Given the description of an element on the screen output the (x, y) to click on. 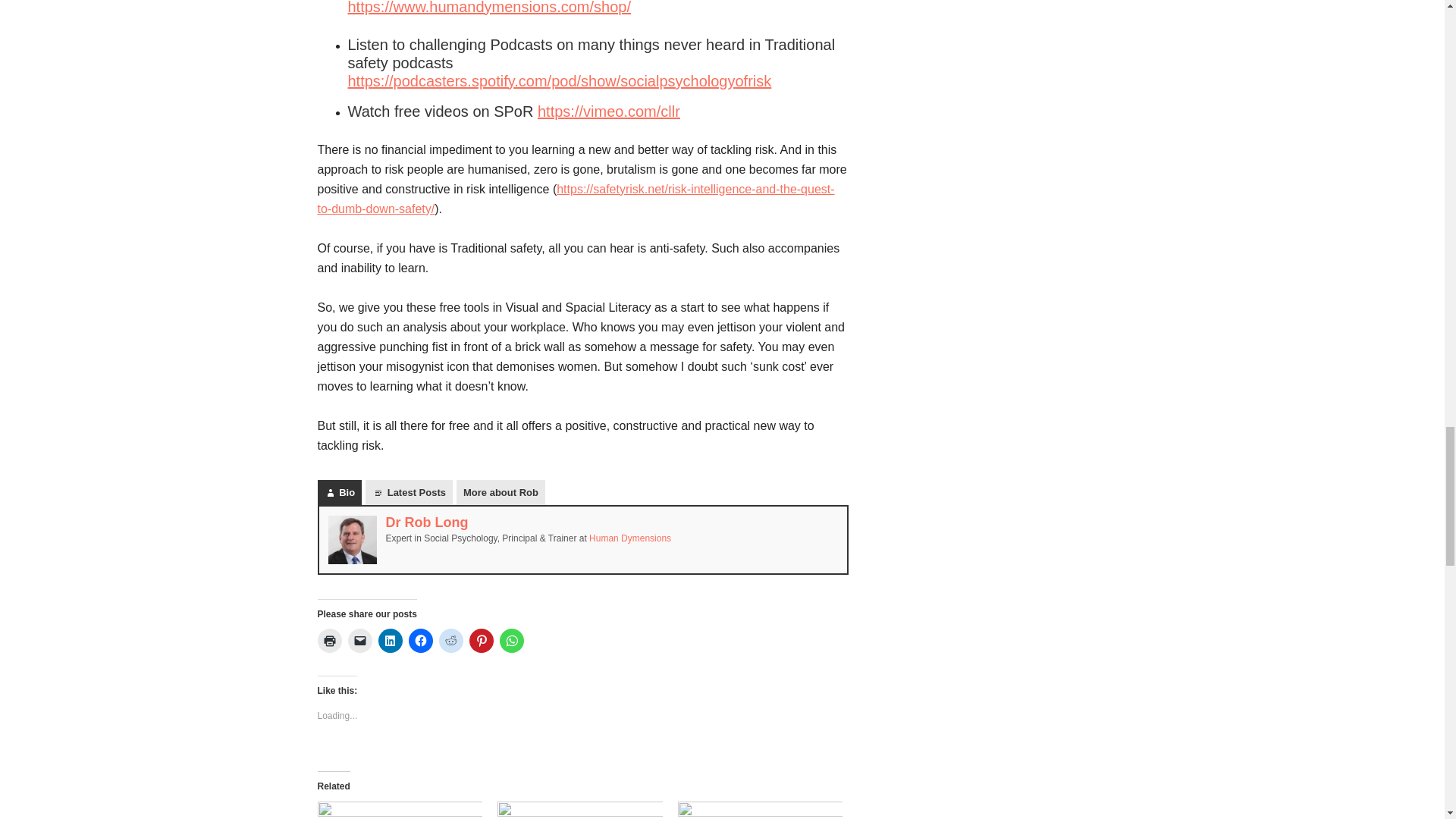
Click to share on LinkedIn (389, 640)
Click to share on Pinterest (480, 640)
Click to print (328, 640)
Click to email a link to a friend (359, 640)
Visual Thinking and Risk (760, 810)
Click to share on Facebook (419, 640)
Click to share on WhatsApp (510, 640)
Competing Values Framework and SPoR (579, 810)
Click to share on Reddit (450, 640)
Practical Case Studies in SPoR Presented at Vienna Workshops (399, 810)
